Given the description of an element on the screen output the (x, y) to click on. 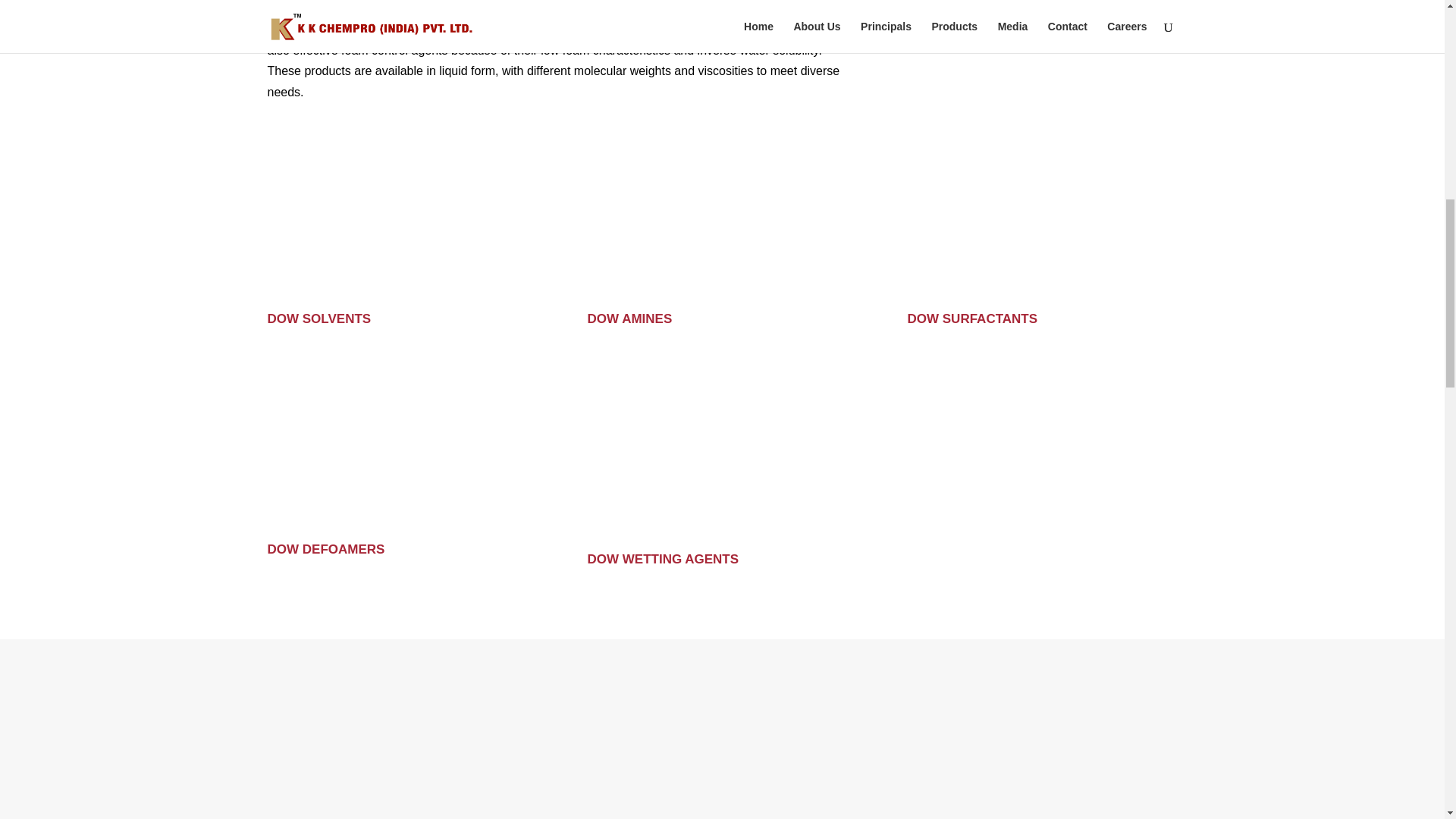
DOW AMINES (628, 318)
DOW SOLVENTS (318, 318)
DOW DEFOAMERS (325, 549)
DOW WETTING AGENTS (662, 559)
DOW SURFACTANTS (971, 318)
